Given the description of an element on the screen output the (x, y) to click on. 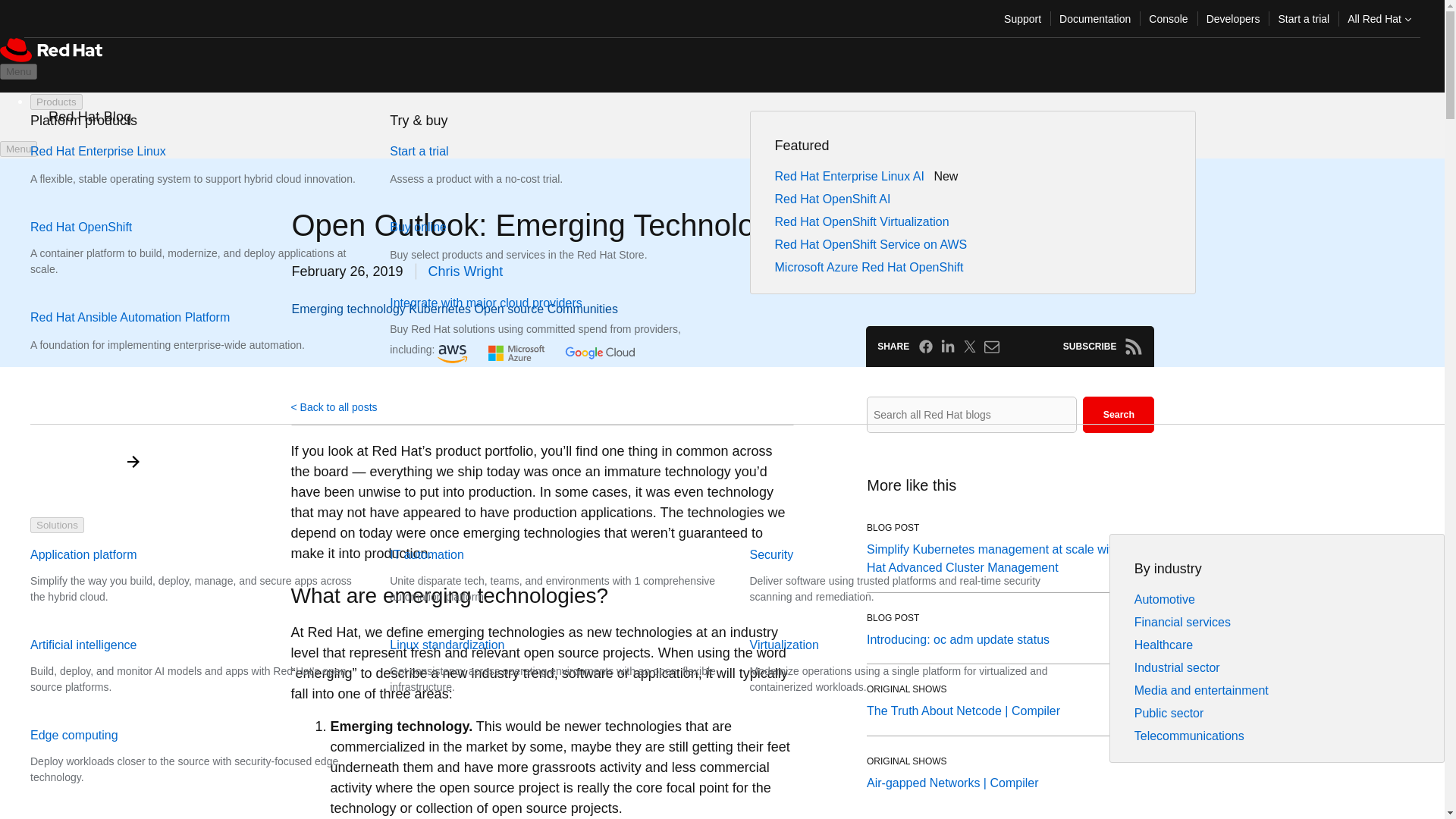
All Red Hat (1379, 18)
Developers (1232, 18)
Documentation (1094, 18)
Start a trialAssess a product with a no-cost trial. (505, 165)
Support (1021, 18)
Subscribe (1132, 346)
See more by Chris Wright (465, 271)
Console (1168, 18)
